Given the description of an element on the screen output the (x, y) to click on. 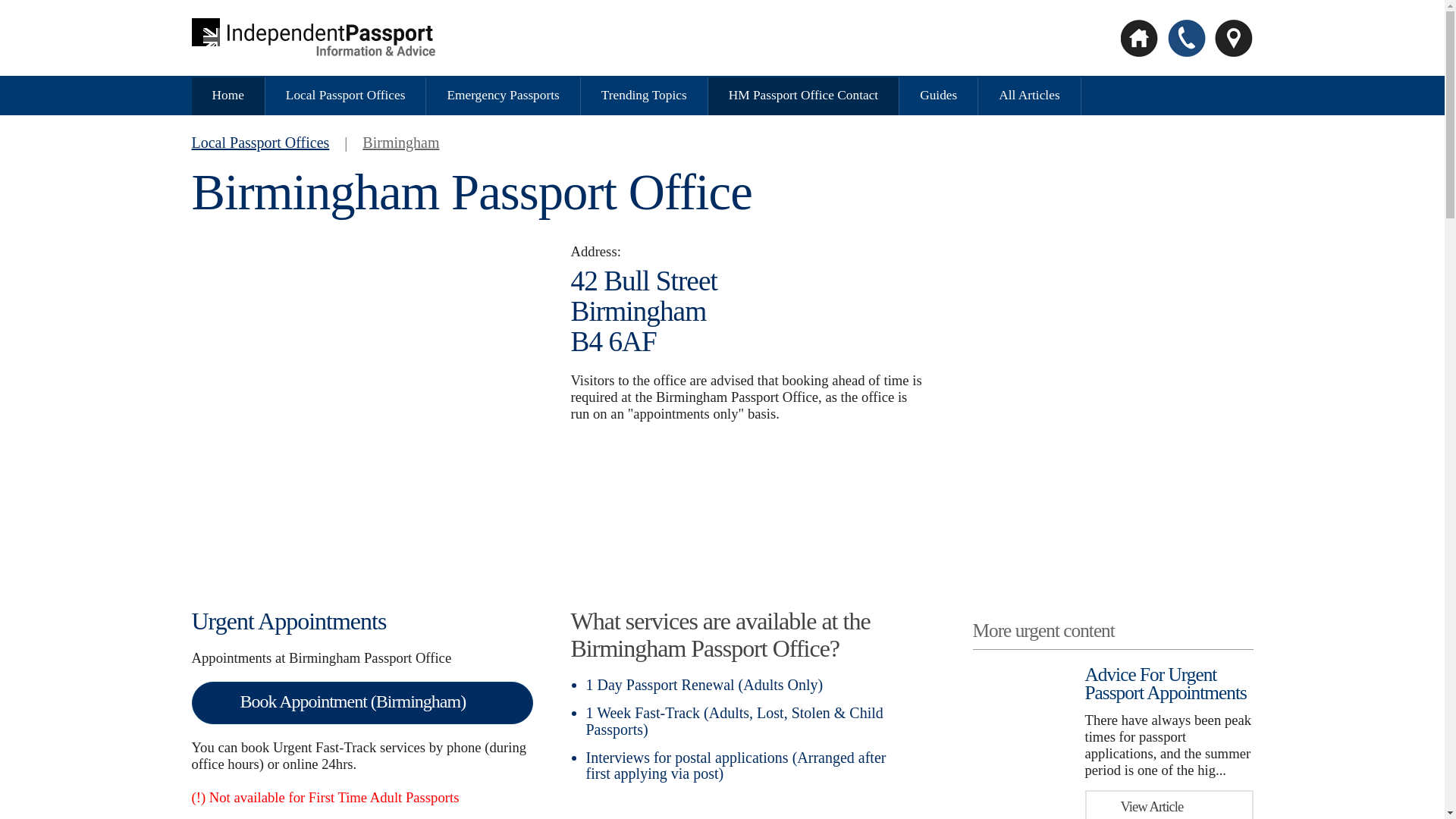
Find your nearest passport office (1232, 38)
Trending Topics (644, 94)
Local Passport Offices (345, 94)
Home (228, 94)
All Articles (1028, 94)
Contact HM Passport Office (1185, 38)
Guides (938, 94)
HM Passport Office Contact (803, 94)
Advice For Urgent Passport Appointments (1165, 682)
Advice For Urgent Passport Appointments (1165, 682)
Passports Office Home (312, 38)
Local Passport Offices (259, 142)
Emergency Passports (502, 94)
Back to our homepage (1138, 38)
Birmingham (400, 142)
